Given the description of an element on the screen output the (x, y) to click on. 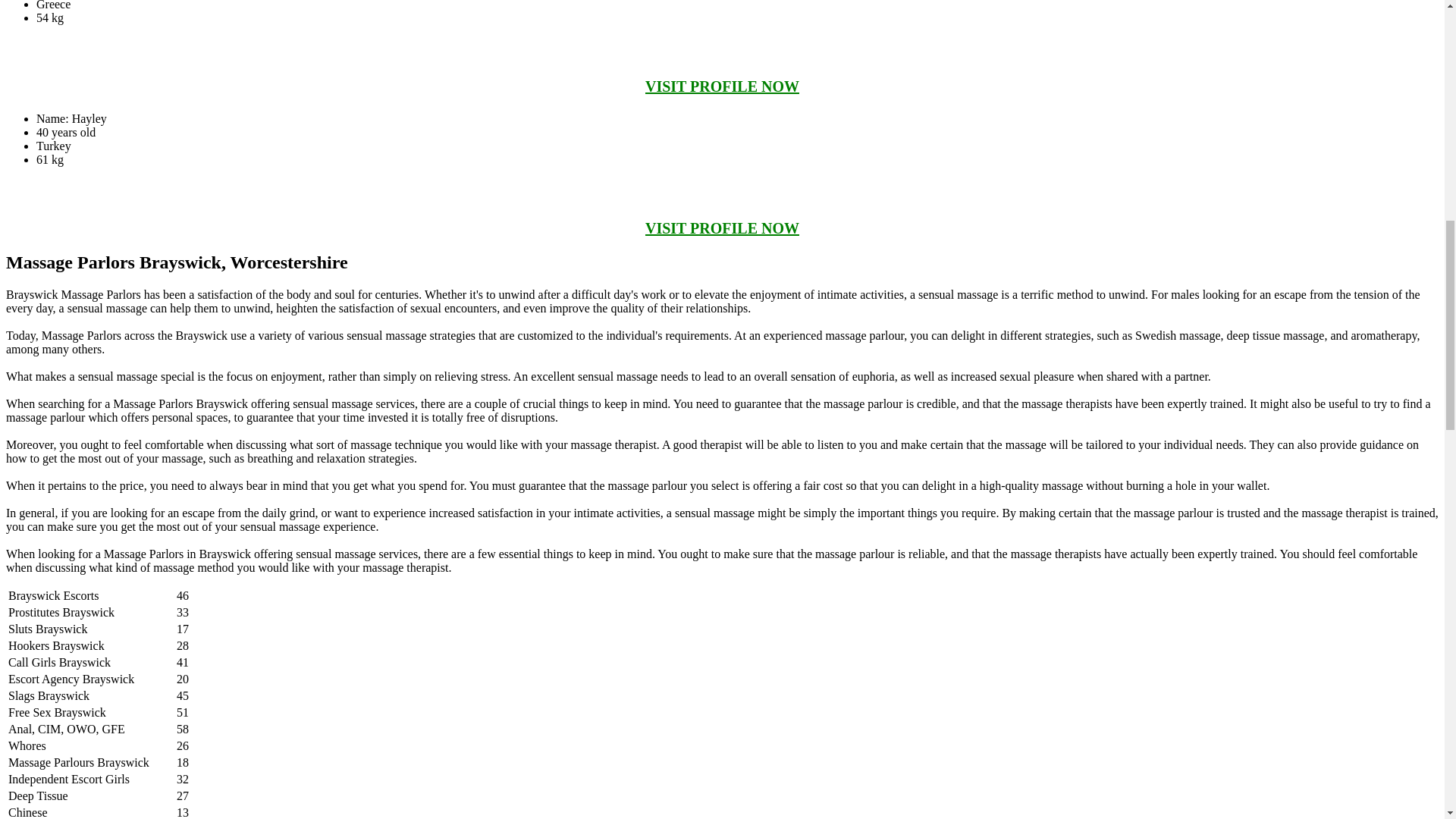
VISIT PROFILE NOW (722, 86)
VISIT PROFILE NOW (722, 228)
